Given the description of an element on the screen output the (x, y) to click on. 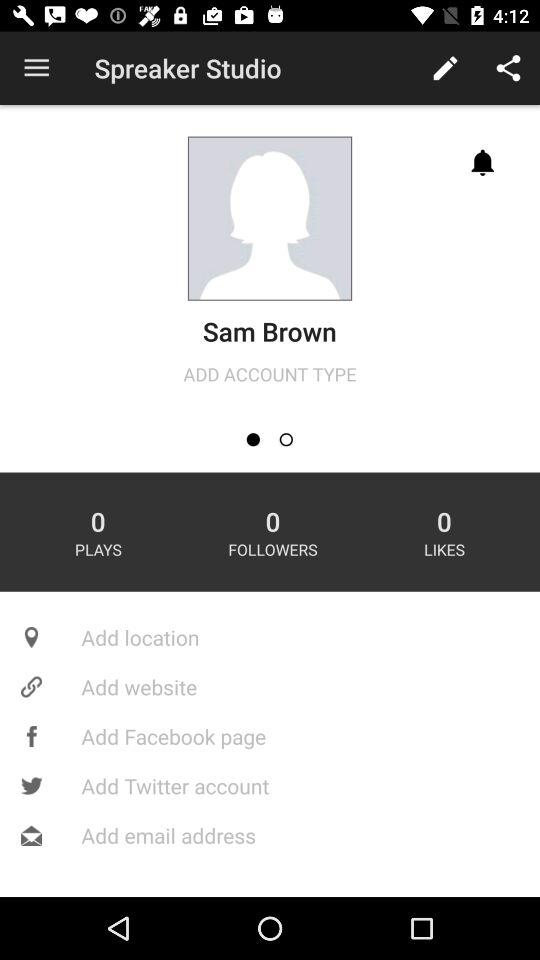
click the icon below the add location (270, 686)
